Given the description of an element on the screen output the (x, y) to click on. 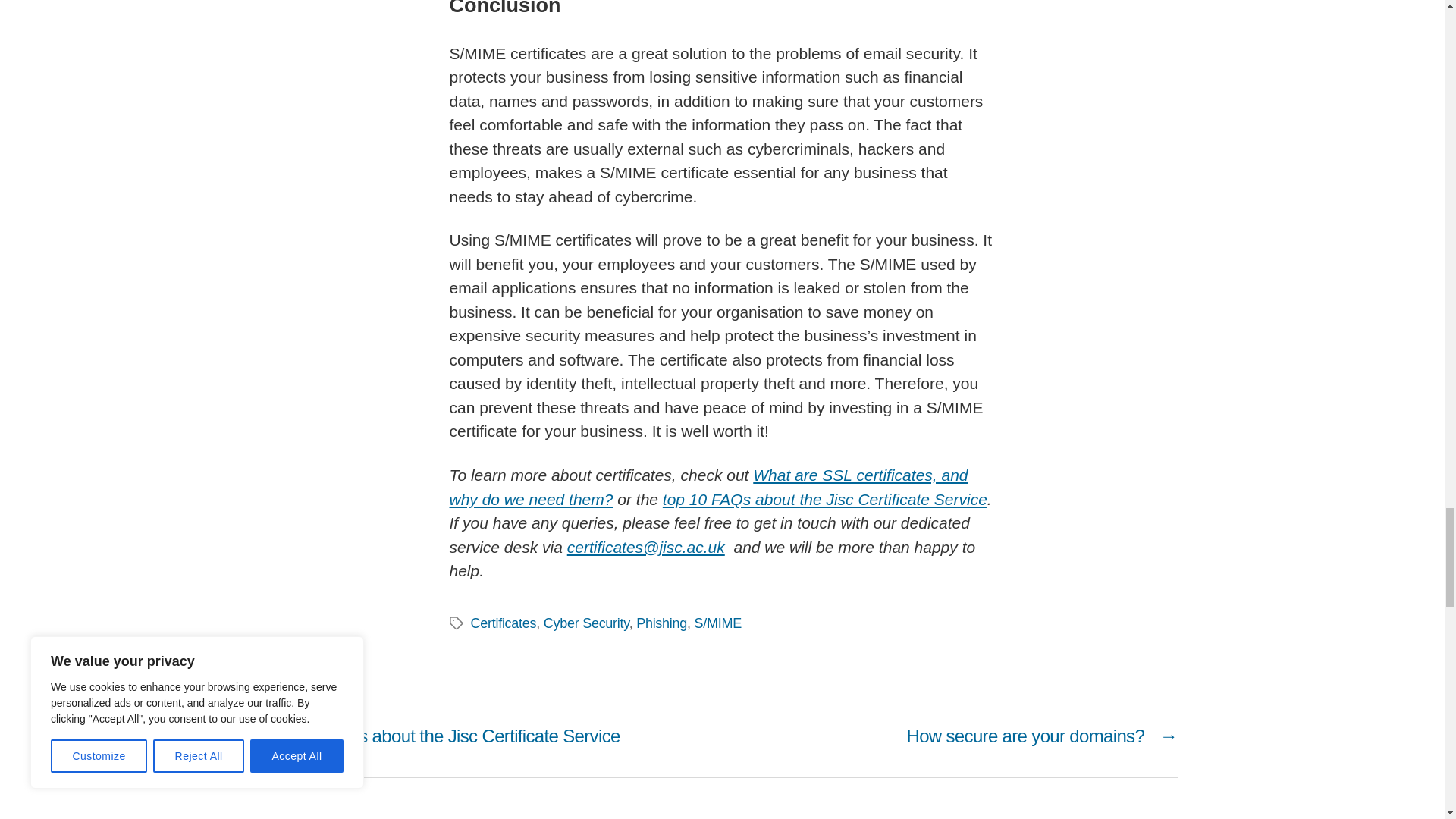
Cyber Security (585, 622)
What are SSL certificates, and why do we need them? (708, 486)
Certificates (502, 622)
Phishing (661, 622)
top 10 FAQs about the Jisc Certificate Service (824, 498)
